Given the description of an element on the screen output the (x, y) to click on. 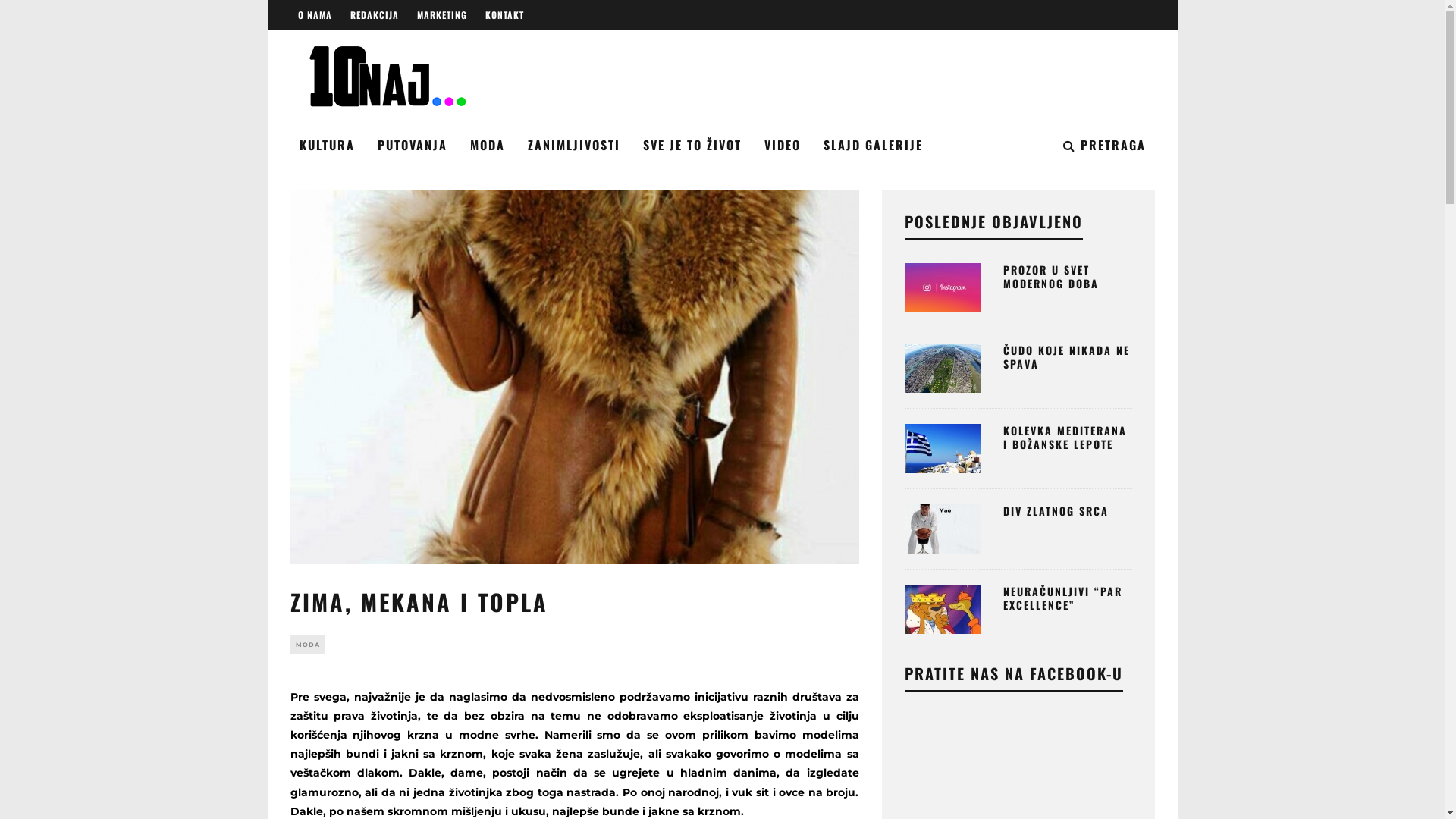
DIV ZLATNOG SRCA Element type: text (1054, 510)
Log In Element type: text (722, 422)
VIDEO Element type: text (782, 145)
SLAJD GALERIJE Element type: text (872, 145)
REDAKCIJA Element type: text (374, 15)
KONTAKT Element type: text (504, 15)
MODA Element type: text (487, 145)
PRETRAGA Element type: text (1104, 145)
MODA Element type: text (306, 644)
MARKETING Element type: text (442, 15)
ZANIMLJIVOSTI Element type: text (573, 145)
PUTOVANJA Element type: text (412, 145)
O NAMA Element type: text (314, 15)
PROZOR U SVET MODERNOG DOBA Element type: text (1050, 276)
KULTURA Element type: text (326, 145)
